Given the description of an element on the screen output the (x, y) to click on. 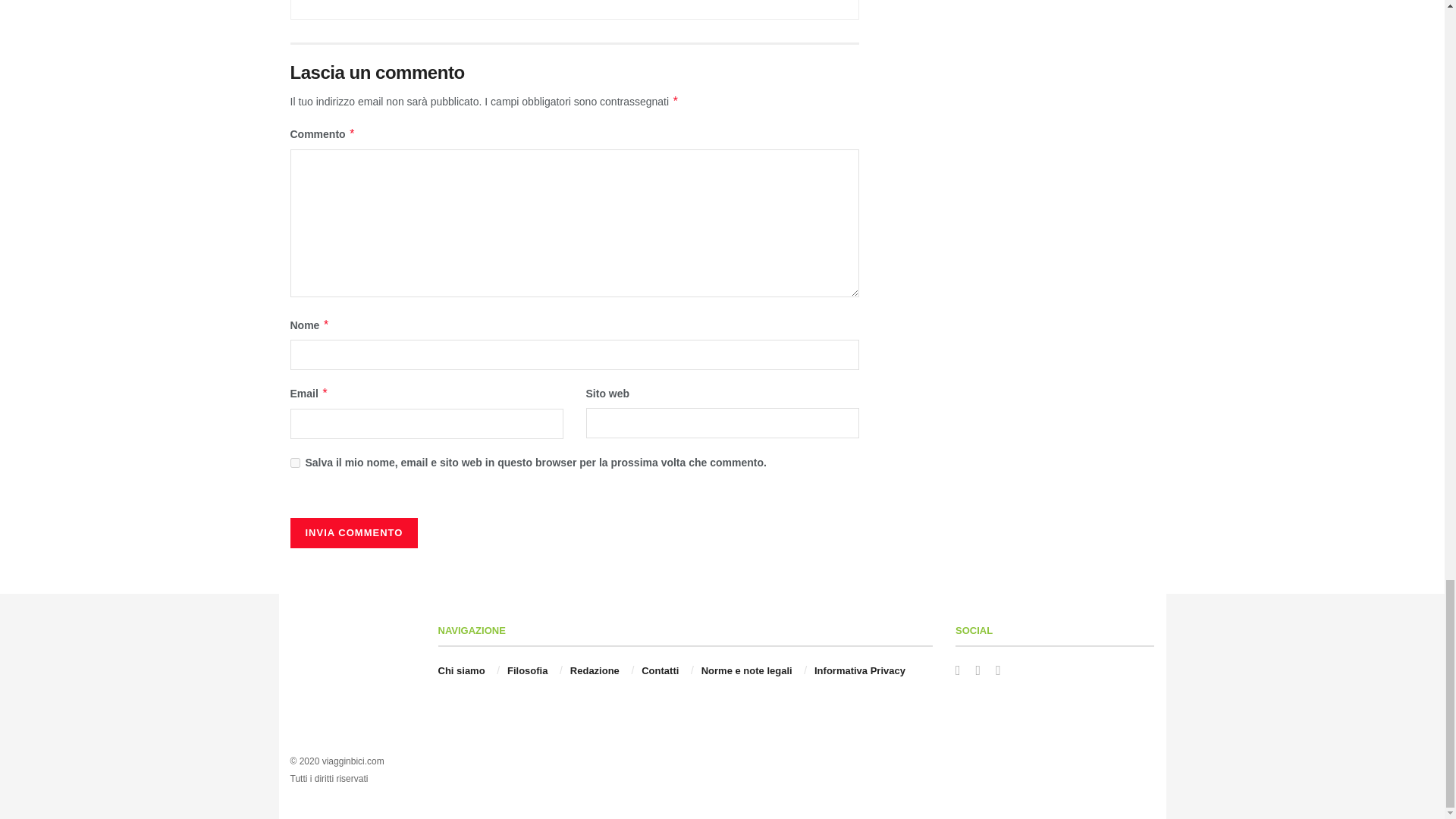
Invia commento (353, 532)
yes (294, 462)
